Given the description of an element on the screen output the (x, y) to click on. 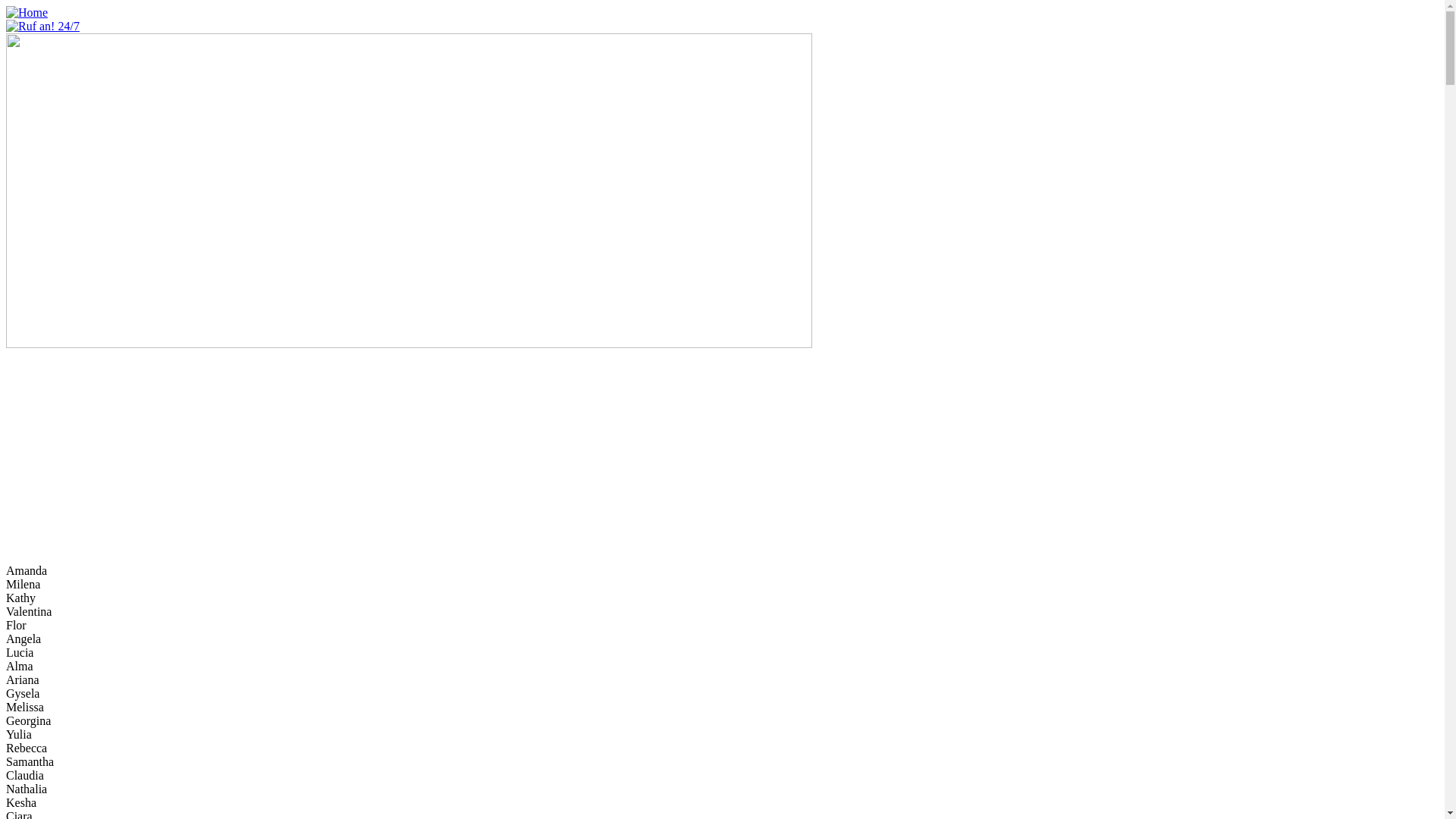
Instagram Gallus Girls Element type: hover (26, 459)
Whatsapp Gallus Girls Element type: hover (26, 501)
Gallus Girls VIP Login Element type: hover (51, 393)
Abonniere den Telegram Kanal der Gallus Girls Element type: hover (26, 543)
